Given the description of an element on the screen output the (x, y) to click on. 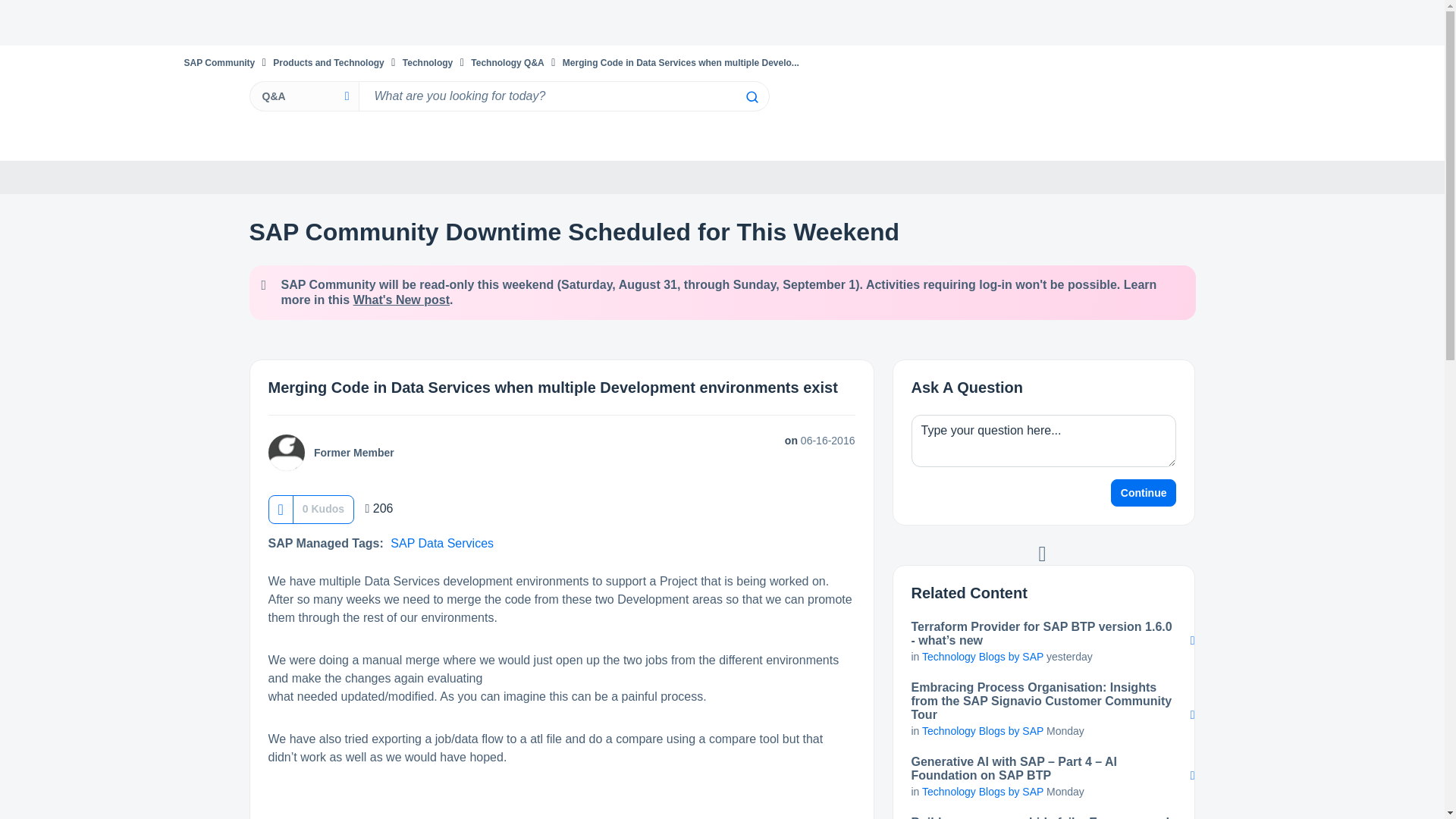
Click here to give kudos to this post. (279, 509)
Continue (1143, 492)
Search (750, 96)
Products and Technology (328, 62)
Search Granularity (303, 96)
Search (750, 96)
Technology Blogs by SAP (982, 730)
What's New post (401, 299)
Technology (427, 62)
